Given the description of an element on the screen output the (x, y) to click on. 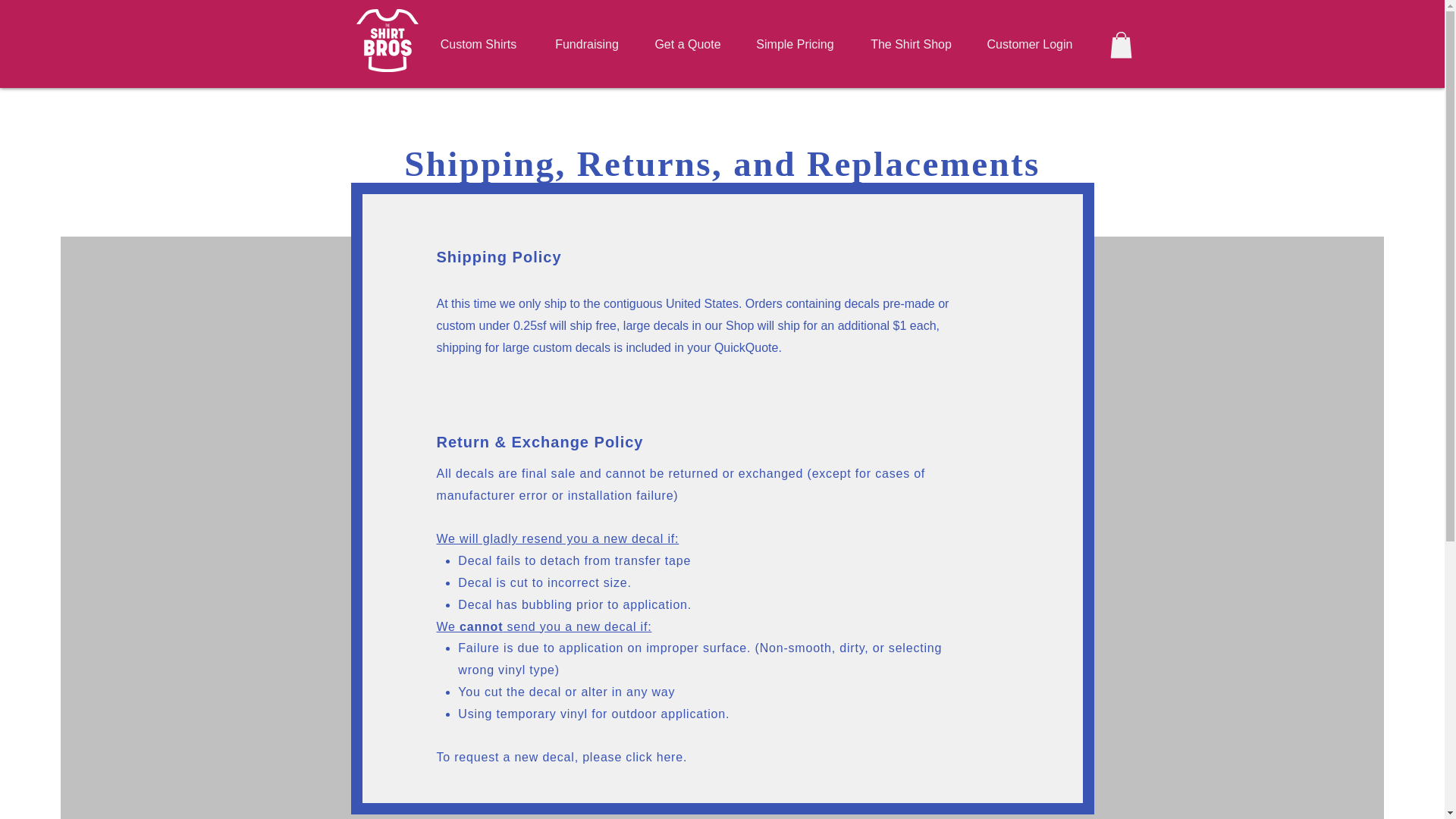
Customer Login (1029, 44)
Fundraising (586, 44)
Simple Pricing (793, 44)
Custom Shirts (478, 44)
Get a Quote (688, 44)
The Shirt Shop (910, 44)
